Given the description of an element on the screen output the (x, y) to click on. 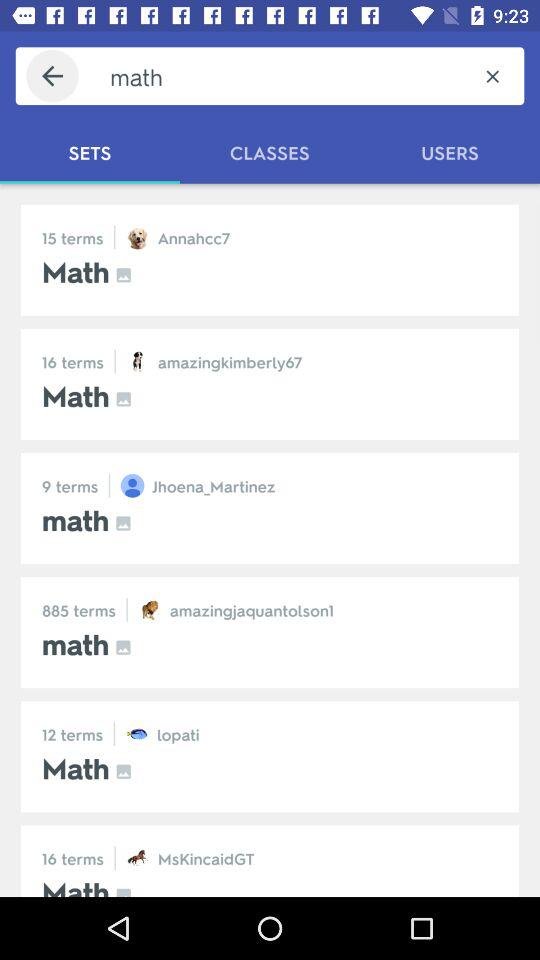
click math which is present in the text box (285, 76)
select the second option from the top (269, 384)
select the icon which is before the lopati (137, 733)
select horse image which is after 16 terms on the page (137, 857)
